Given the description of an element on the screen output the (x, y) to click on. 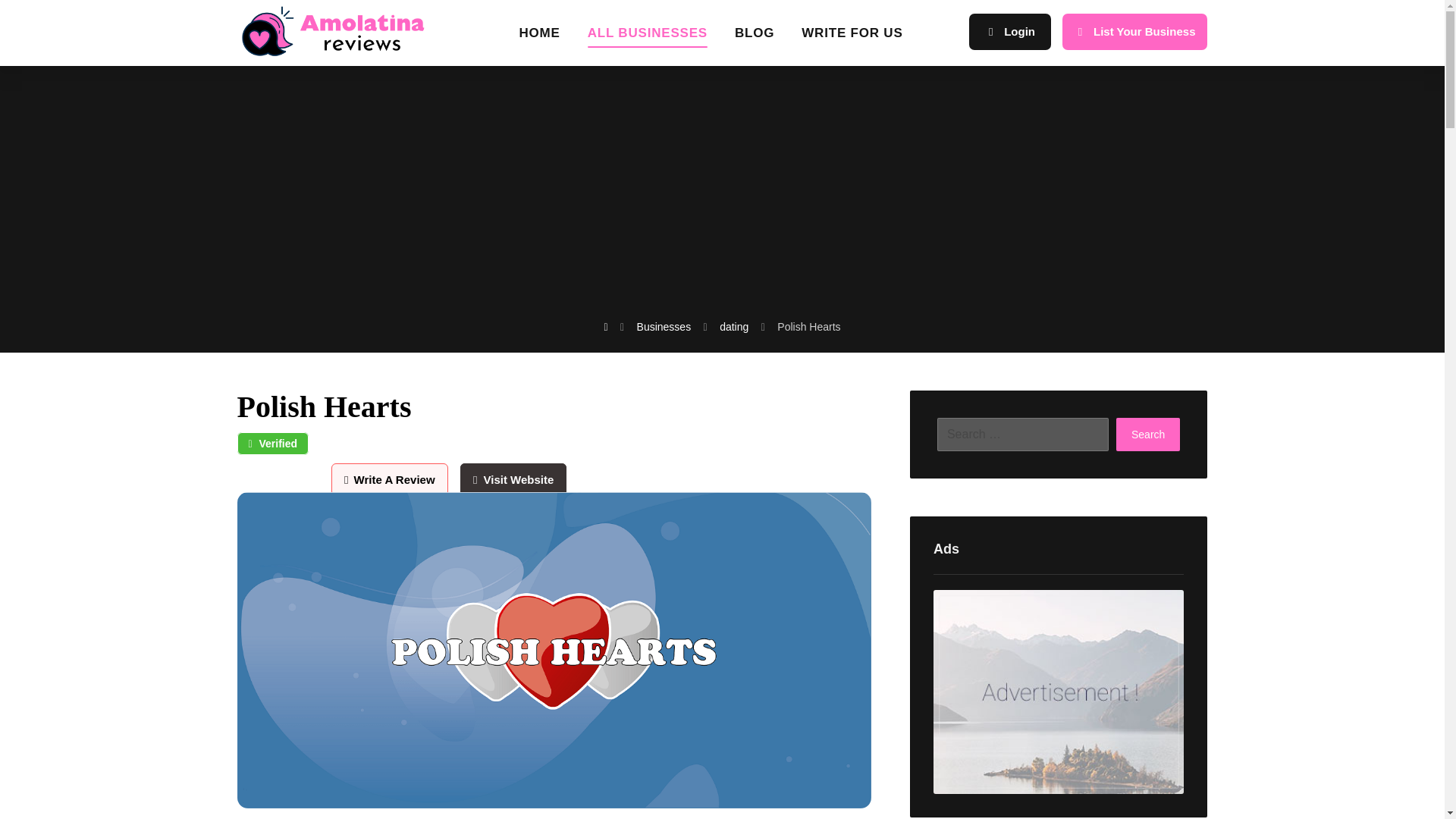
WRITE FOR US (852, 38)
Search (1147, 434)
HOME (538, 38)
Polish Hearts (808, 326)
Businesses (664, 326)
Write A Review (394, 479)
Best Amolatina Reviews Website (332, 30)
ALL BUSINESSES (647, 38)
BLOG (754, 38)
List Your Business (1134, 31)
dating (733, 326)
Login (1010, 31)
Verified (271, 443)
Visit Website (513, 479)
